Given the description of an element on the screen output the (x, y) to click on. 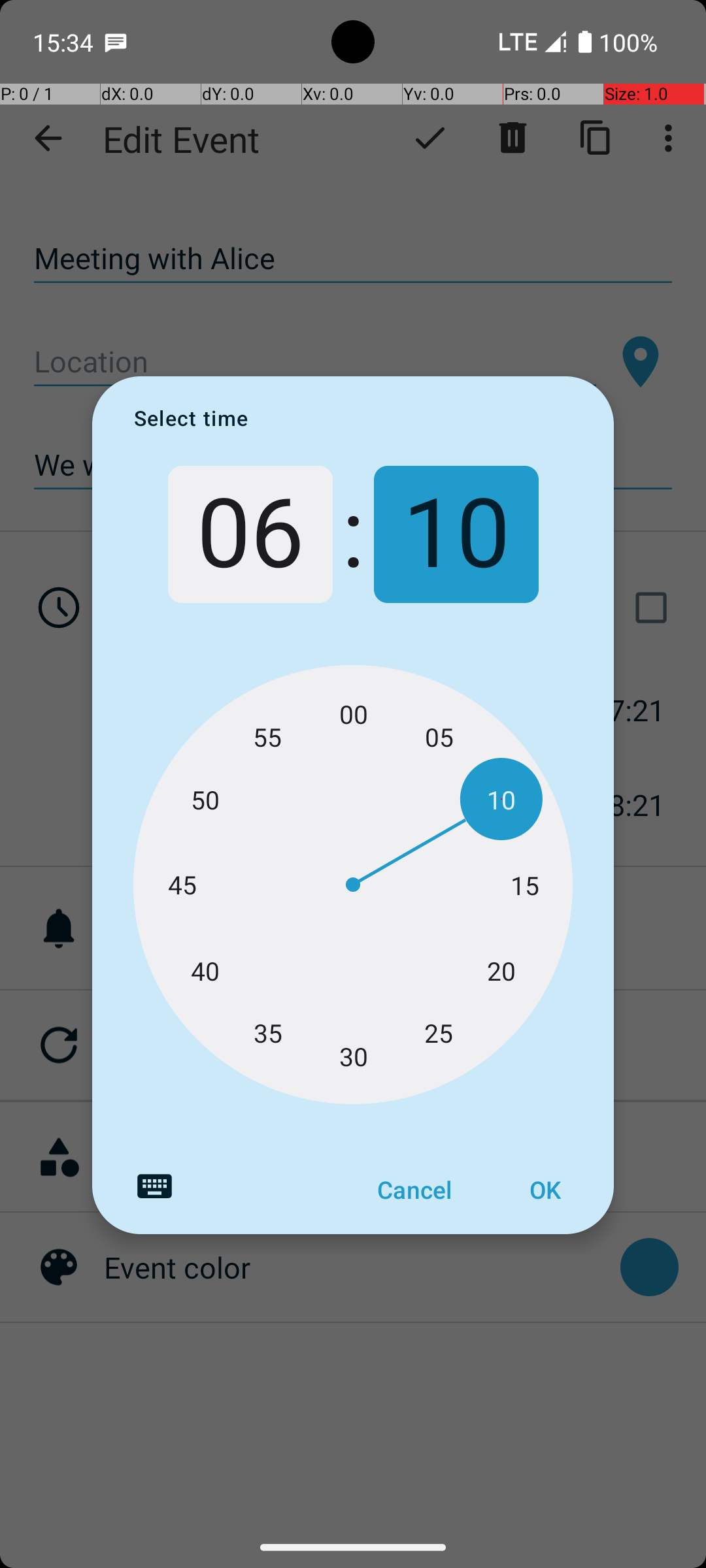
06 Element type: android.view.View (250, 534)
